Given the description of an element on the screen output the (x, y) to click on. 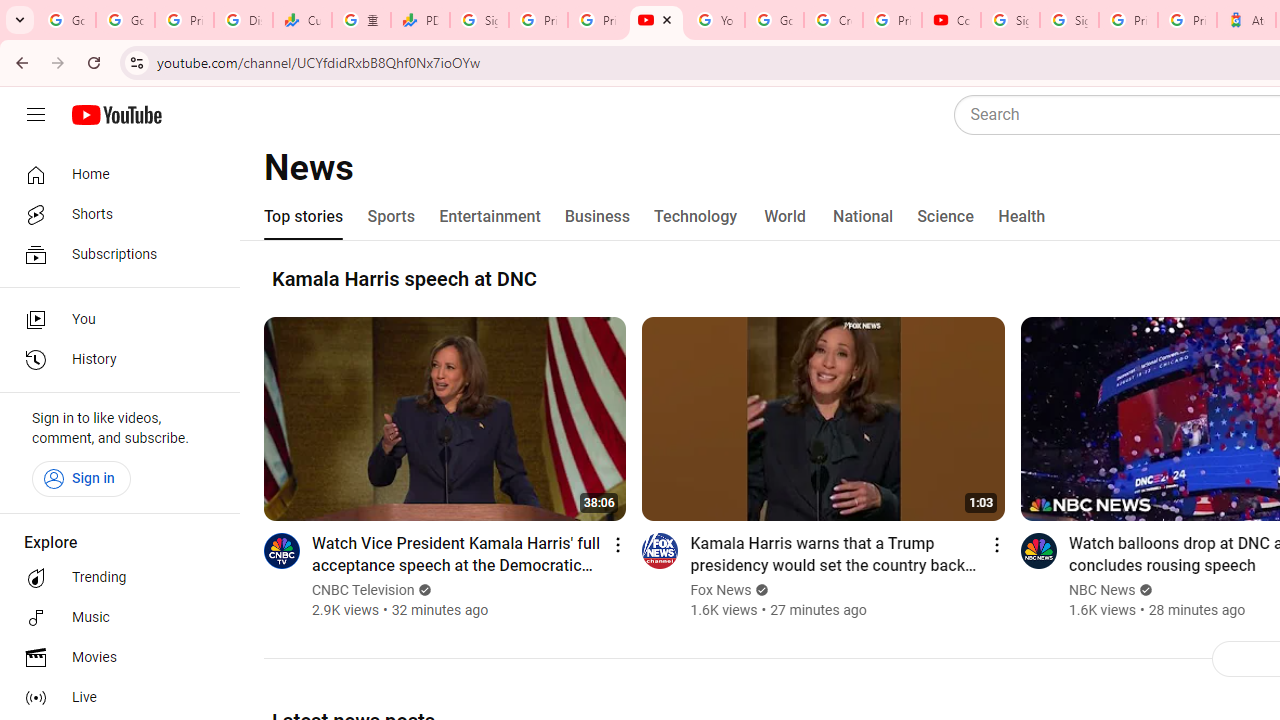
Live (113, 697)
Entertainment (490, 216)
Movies (113, 657)
History (113, 359)
Technology (696, 216)
YouTube (656, 20)
PDD Holdings Inc - ADR (PDD) Price & News - Google Finance (420, 20)
Business (597, 216)
